Given the description of an element on the screen output the (x, y) to click on. 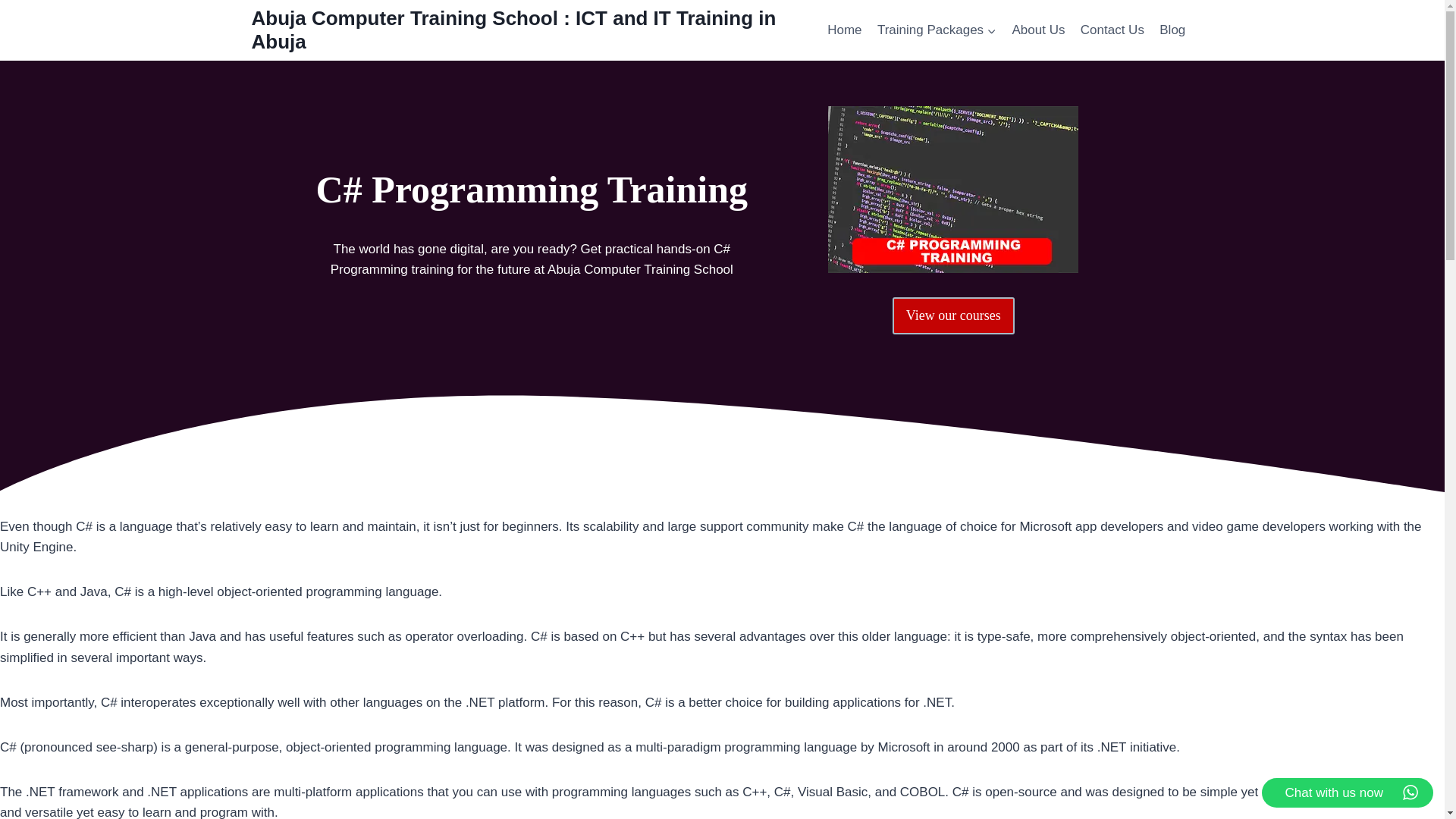
Home (844, 30)
About Us (1037, 30)
View our courses (953, 315)
Contact Us (1112, 30)
Blog (1171, 30)
Training Packages (936, 30)
